Given the description of an element on the screen output the (x, y) to click on. 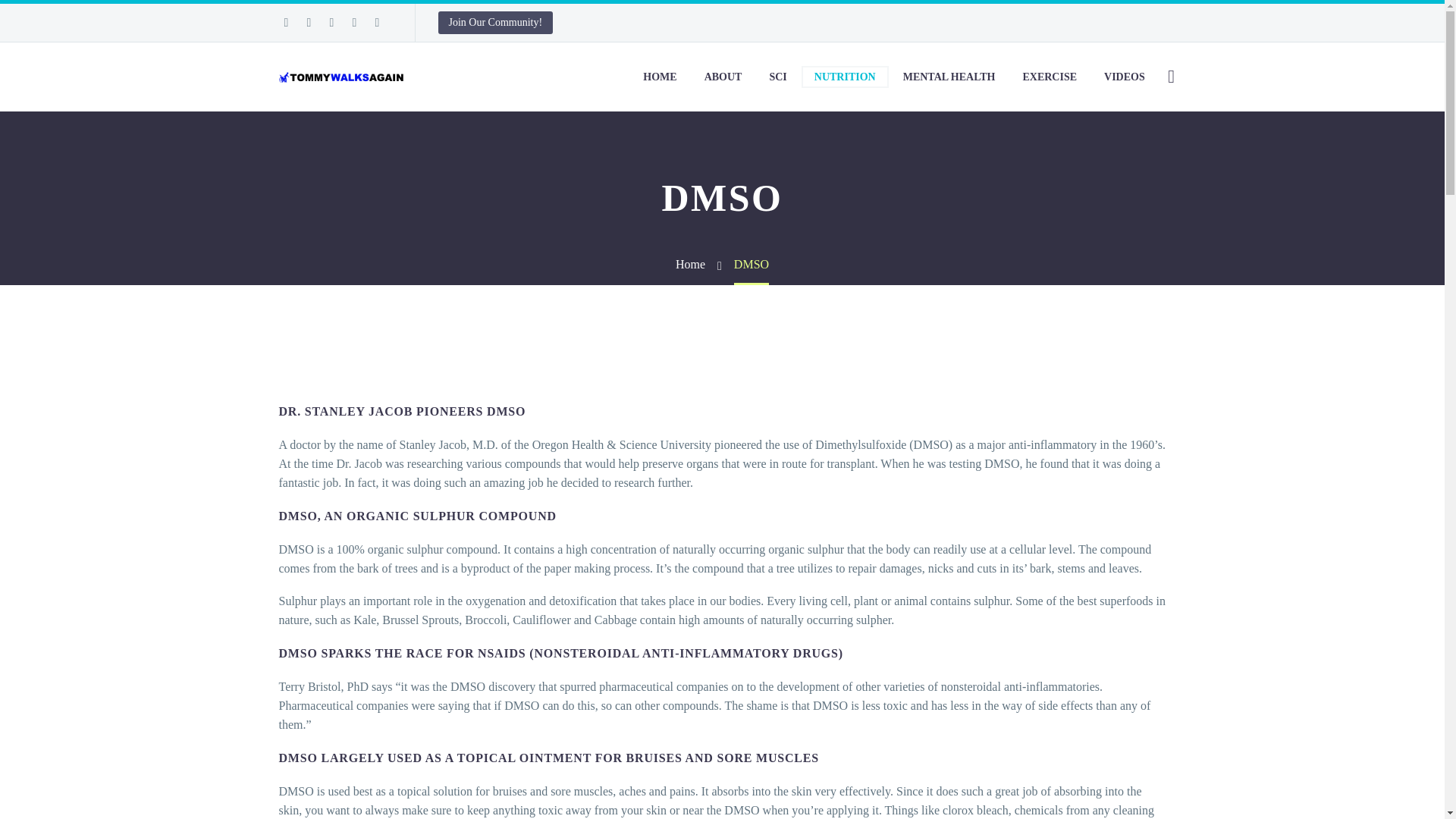
ABOUT (723, 76)
NUTRITION (845, 76)
VIDEOS (1124, 76)
Join Our Community! (495, 22)
SCI (777, 76)
Instagram (331, 22)
Facebook (286, 22)
Home (689, 264)
HOME (659, 76)
YouTube (353, 22)
TikTok (376, 22)
Twitter (308, 22)
MENTAL HEALTH (949, 76)
EXERCISE (1048, 76)
